Given the description of an element on the screen output the (x, y) to click on. 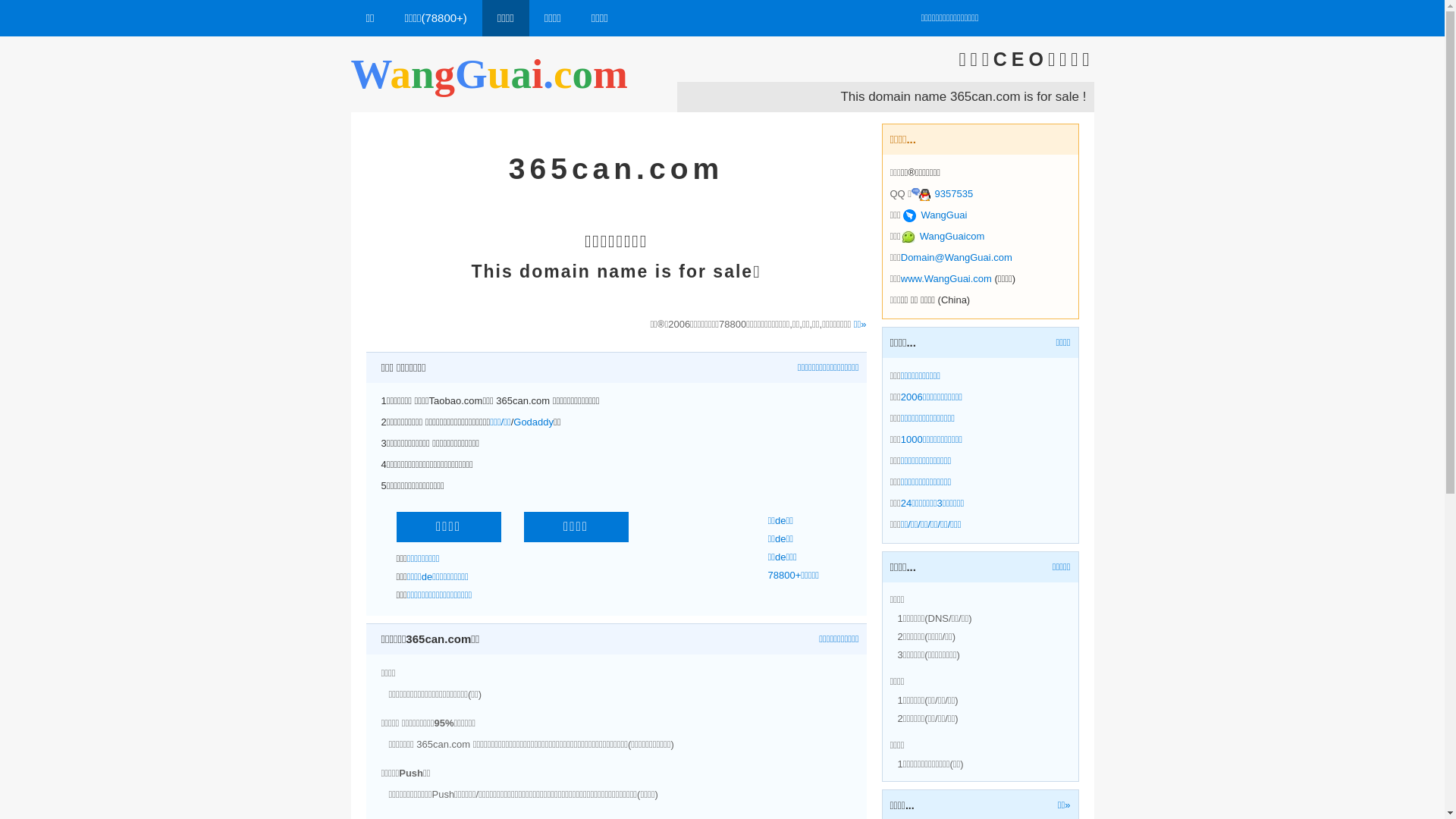
9357535 Element type: text (941, 193)
WangGuaicom Element type: text (942, 235)
Domain@WangGuai.com Element type: text (956, 257)
WangGuai Element type: text (934, 214)
www.WangGuai.com Element type: text (945, 278)
Godaddy Element type: text (533, 421)
